Given the description of an element on the screen output the (x, y) to click on. 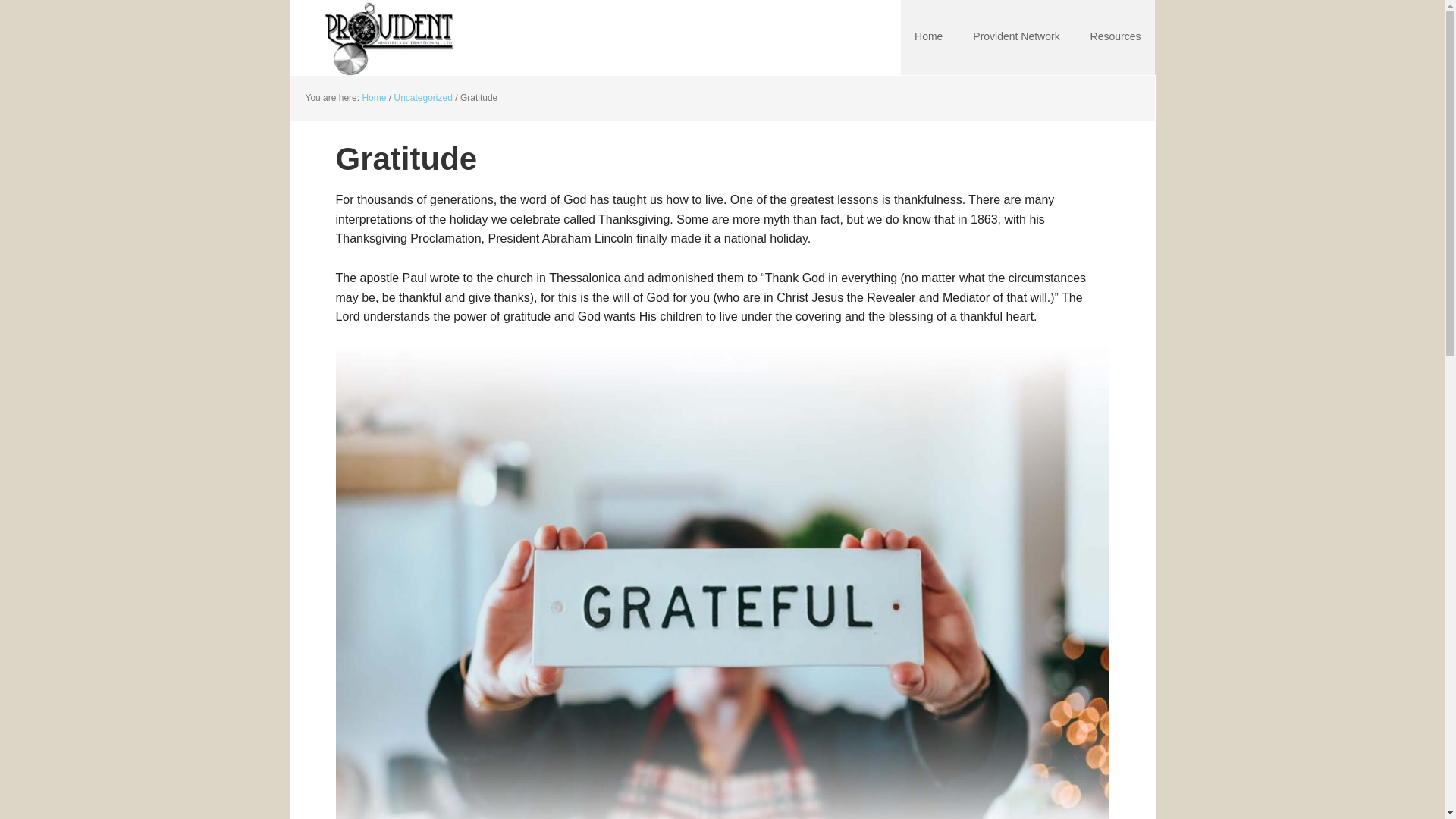
Resources (1115, 37)
Provident Network (1016, 37)
Uncategorized (423, 97)
Home (373, 97)
Provident Ministries International (387, 38)
